Given the description of an element on the screen output the (x, y) to click on. 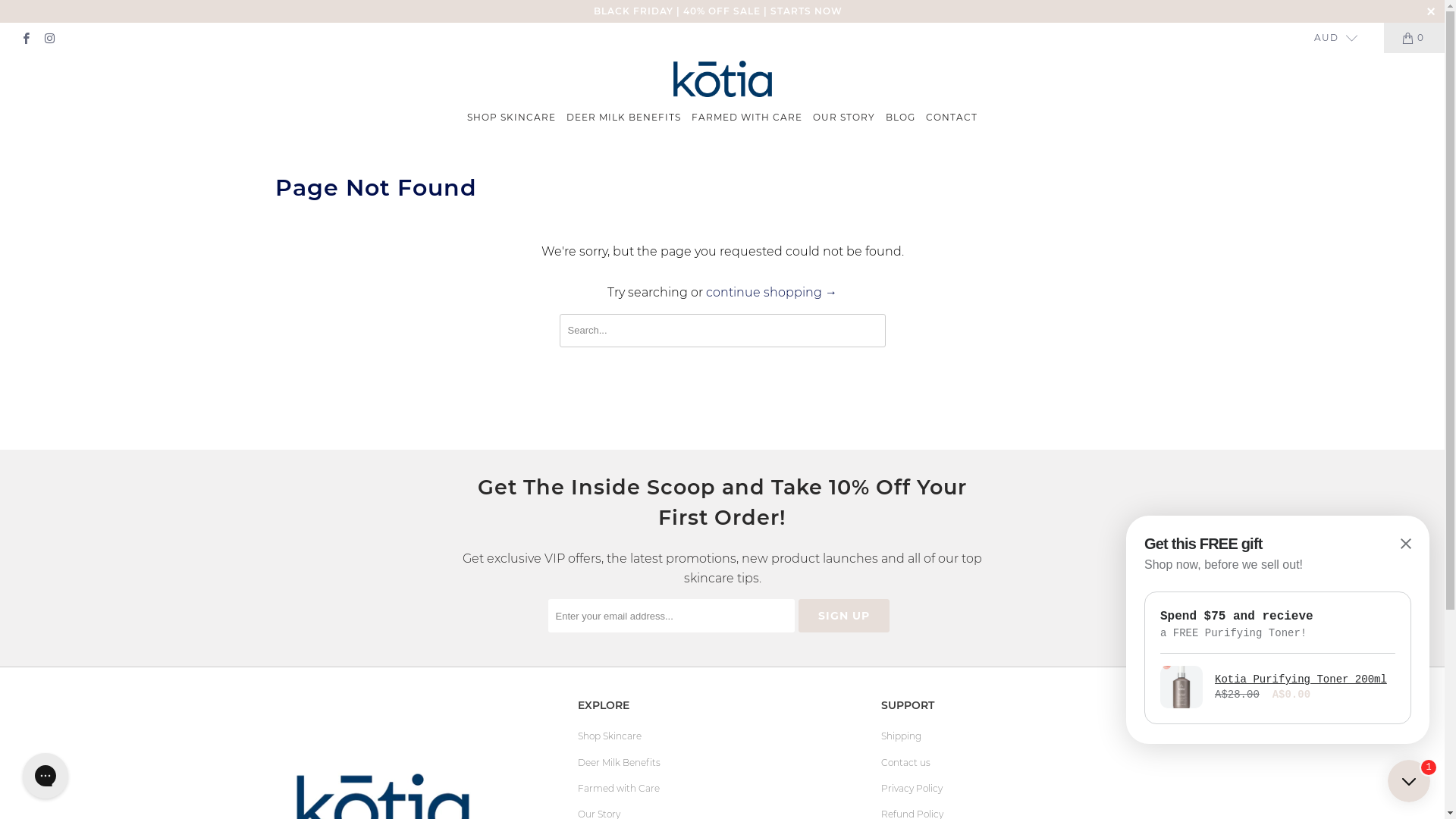
0 Element type: text (1413, 37)
BLOG Element type: text (900, 117)
Farmed with Care Element type: text (618, 787)
Sign Up Element type: text (842, 615)
SHOP SKINCARE Element type: text (511, 117)
FARMED WITH CARE Element type: text (746, 117)
DEER MILK BENEFITS Element type: text (623, 117)
Kotia on Instagram Element type: hover (48, 37)
AUD Element type: text (1329, 37)
Shop Skincare Element type: text (609, 735)
Contact us Element type: text (905, 762)
Shipping Element type: text (901, 735)
Privacy Policy Element type: text (911, 787)
OUR STORY Element type: text (843, 117)
Gorgias live chat messenger Element type: hover (45, 775)
Kotia Element type: hover (722, 79)
CONTACT Element type: text (951, 117)
Deer Milk Benefits Element type: text (618, 762)
gb-frame Element type: hover (1277, 629)
Kotia on Facebook Element type: hover (24, 37)
